Given the description of an element on the screen output the (x, y) to click on. 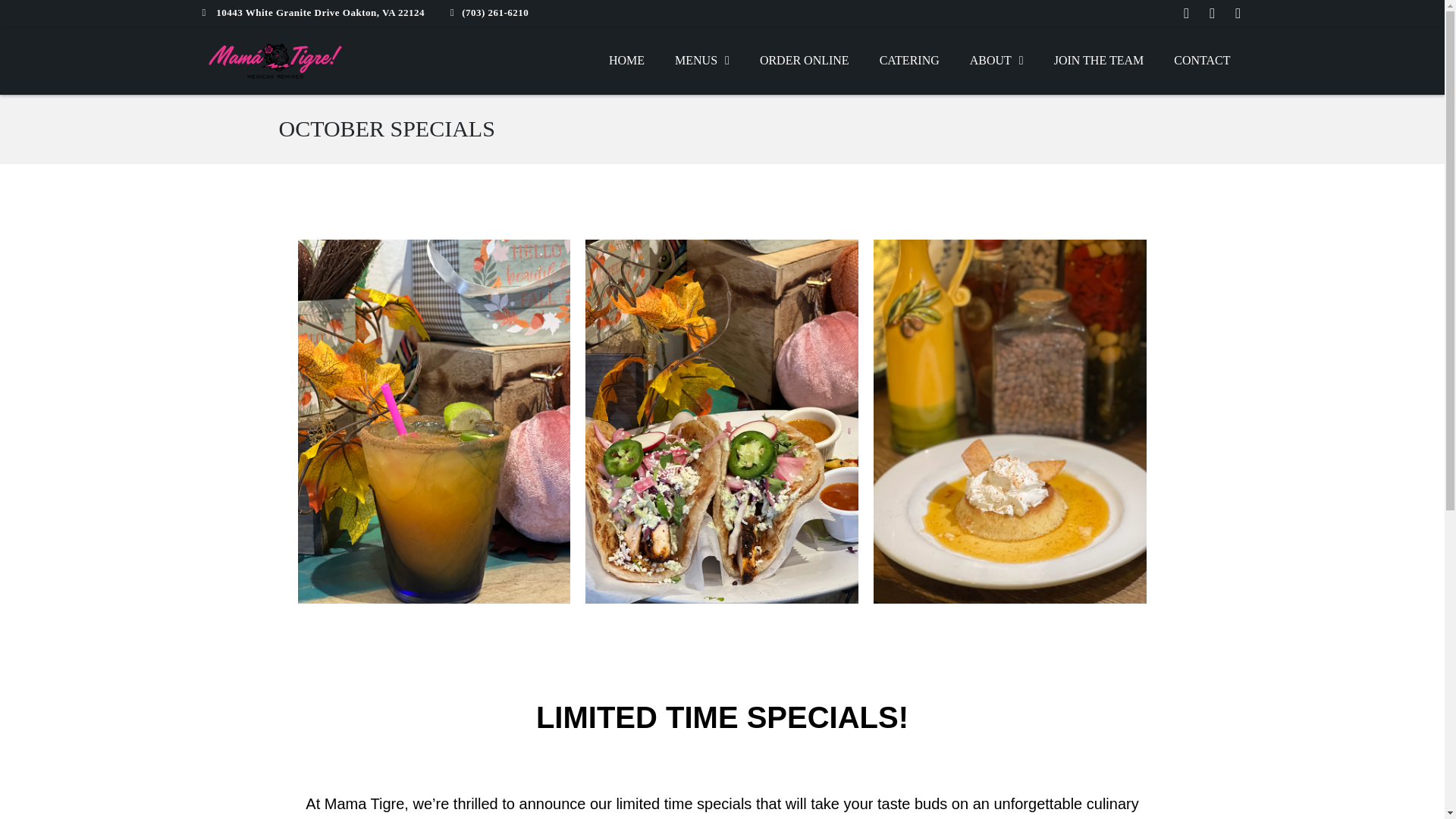
ORDER ONLINE (804, 60)
HOME (626, 60)
10443 White Granite Drive Oakton, VA 22124 (311, 12)
CATERING (909, 60)
JOIN THE TEAM (1098, 60)
MENUS (701, 60)
CONTACT (1201, 60)
ABOUT (997, 60)
